Given the description of an element on the screen output the (x, y) to click on. 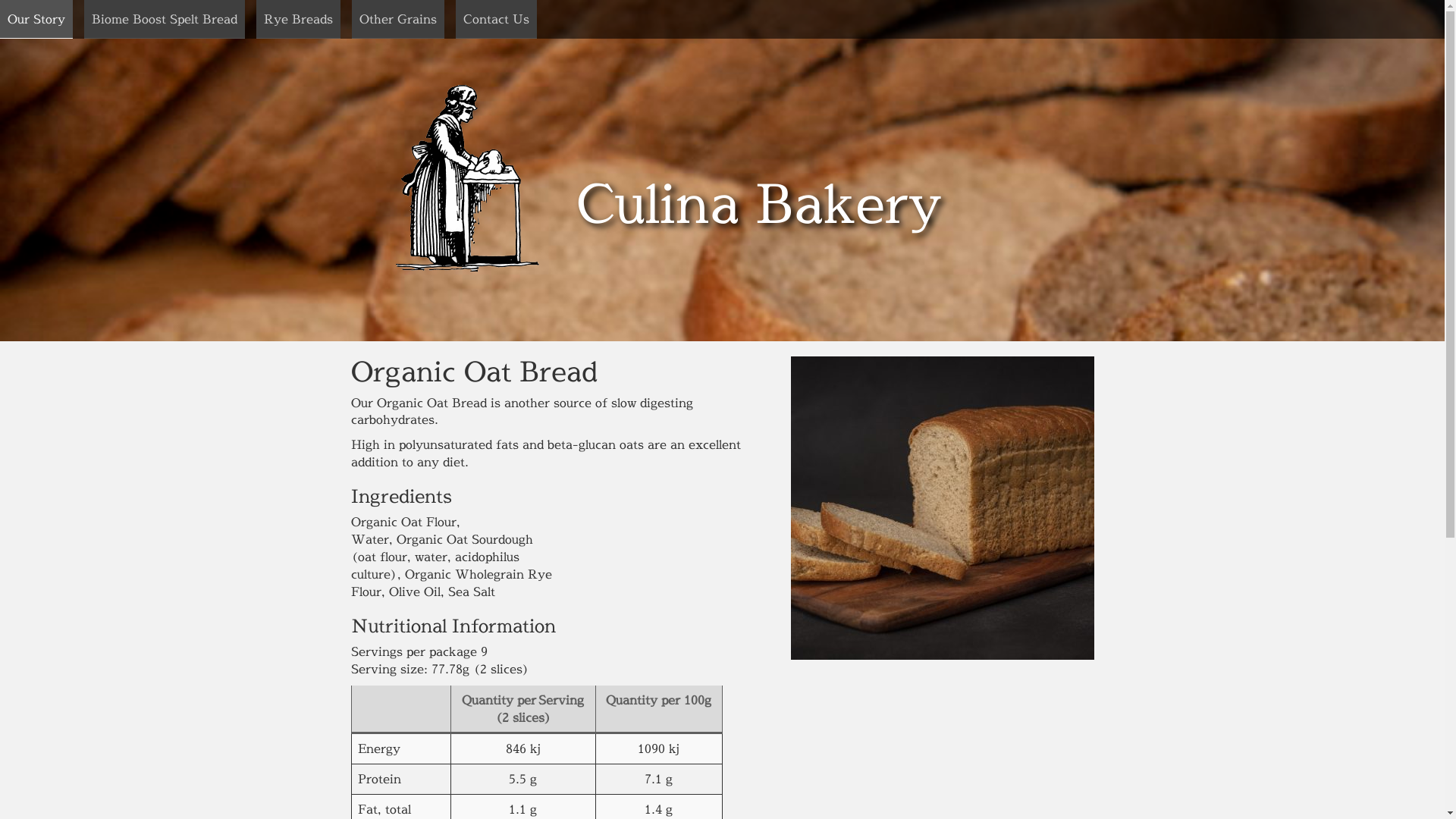
Our Story Element type: text (36, 19)
Rye Breads Element type: text (298, 19)
Contact Us Element type: text (495, 19)
Other Grains Element type: text (397, 19)
Biome Boost Spelt Bread Element type: text (164, 19)
